Given the description of an element on the screen output the (x, y) to click on. 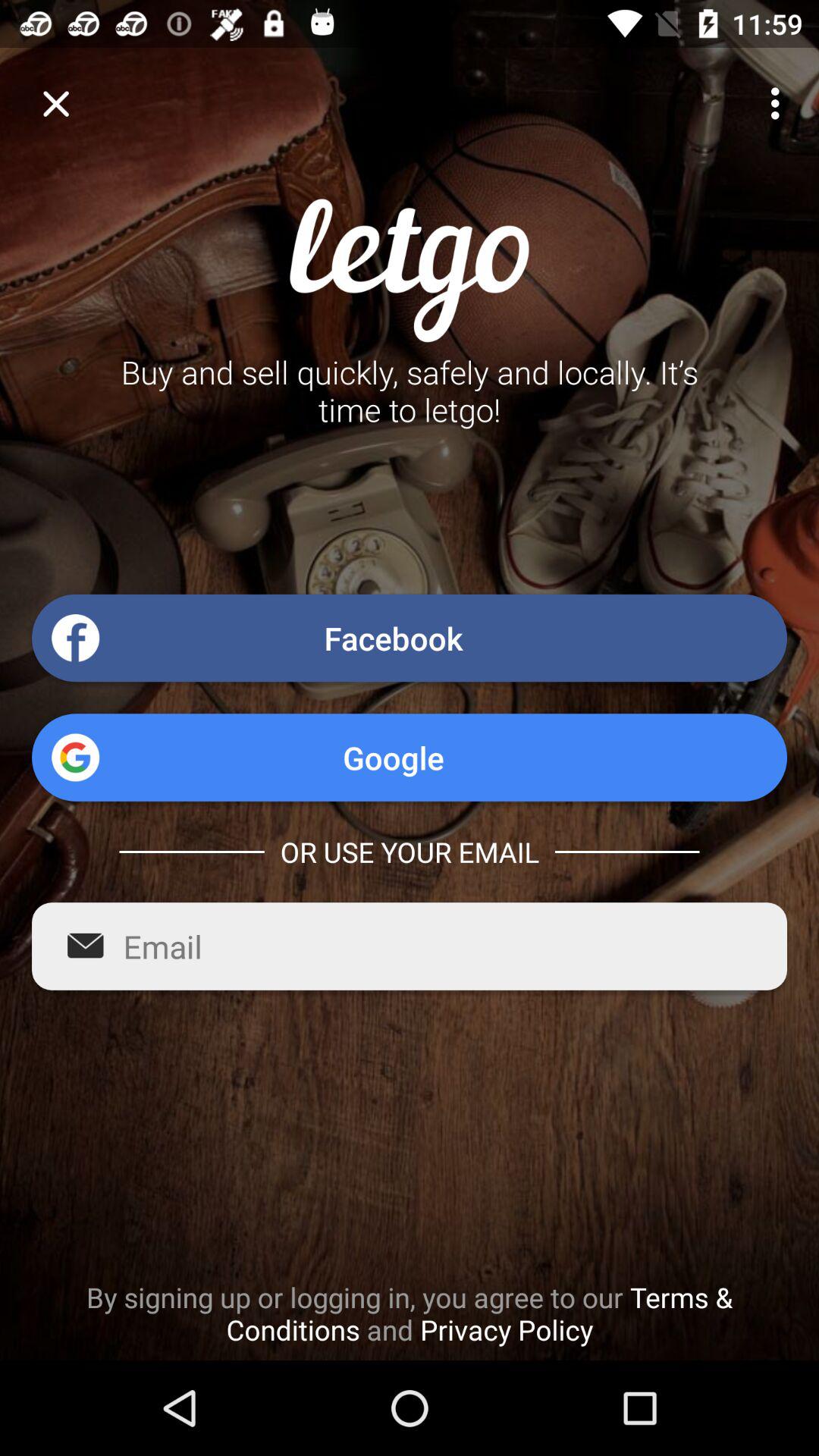
choose the item above the facebook item (779, 103)
